Given the description of an element on the screen output the (x, y) to click on. 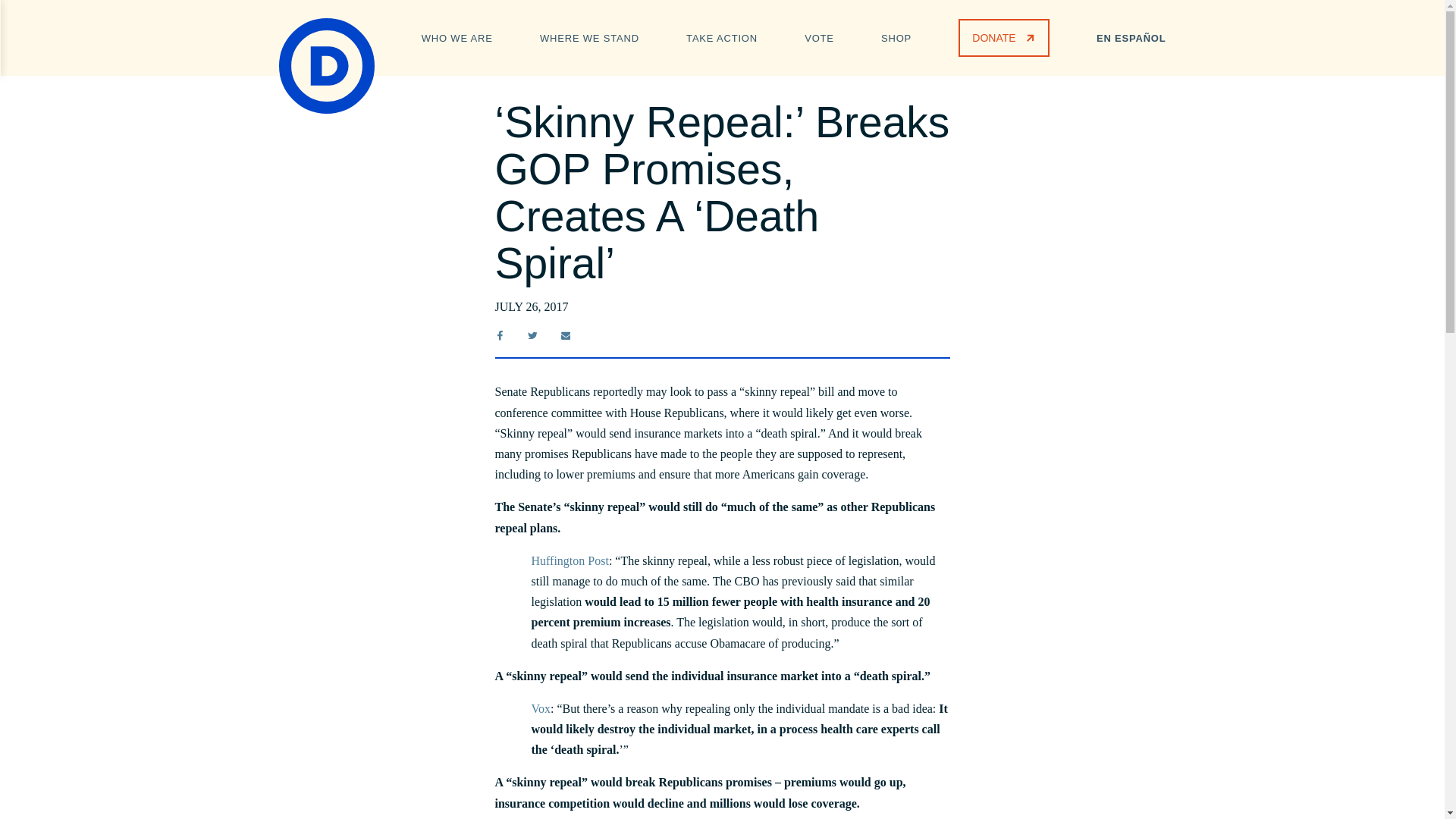
DNC (326, 65)
TAKE ACTION (721, 36)
WHERE WE STAND (589, 36)
twitter (532, 335)
email (565, 335)
VOTE (819, 36)
facebook (499, 335)
SHOP (895, 36)
DONATE (1003, 37)
WHO WE ARE (457, 36)
facebook (499, 336)
